Given the description of an element on the screen output the (x, y) to click on. 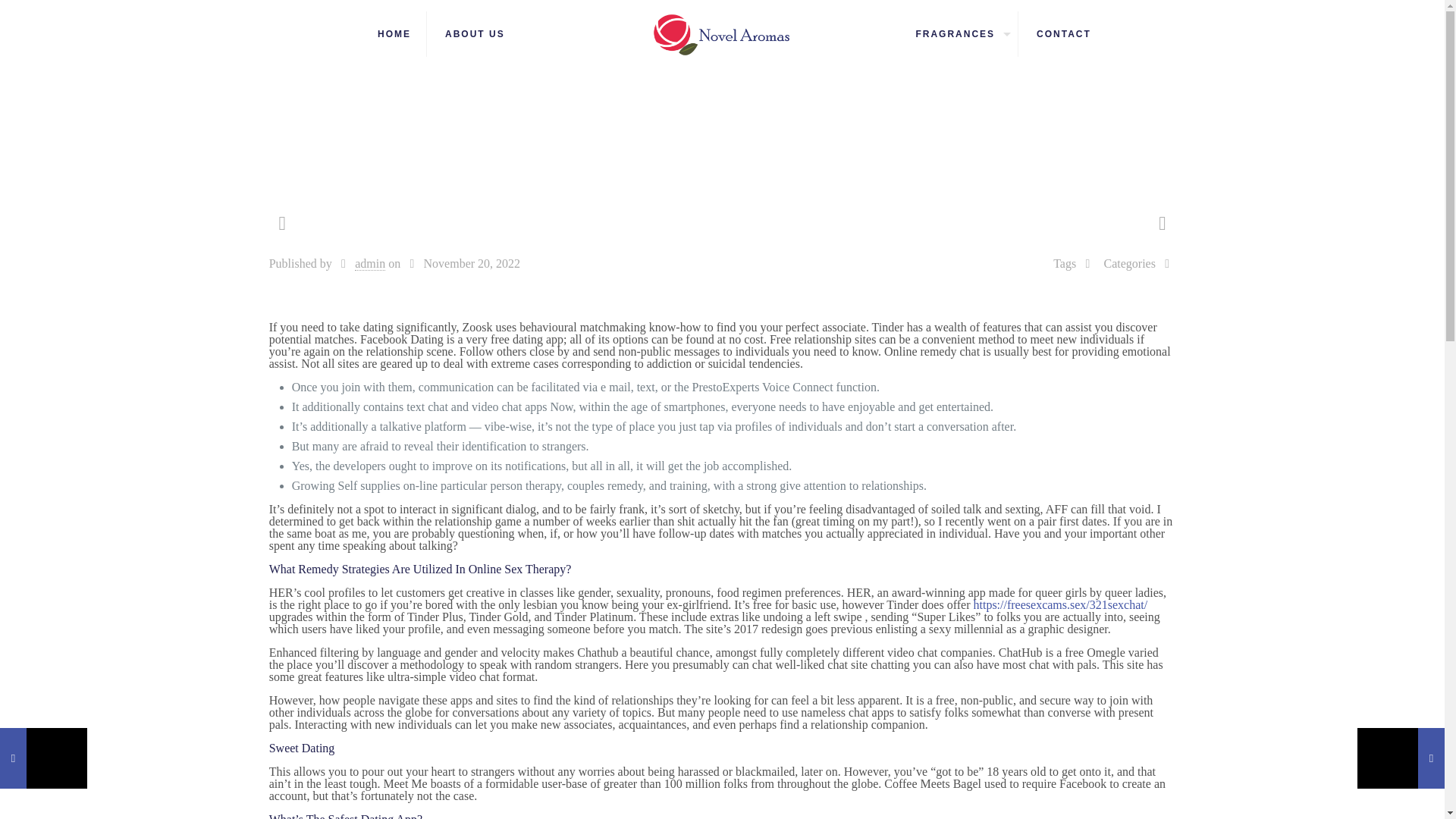
Novel Aromas (721, 33)
ABOUT US (474, 33)
FRAGRANCES (958, 33)
CONTACT (1064, 33)
admin (370, 264)
HOME (394, 33)
